Given the description of an element on the screen output the (x, y) to click on. 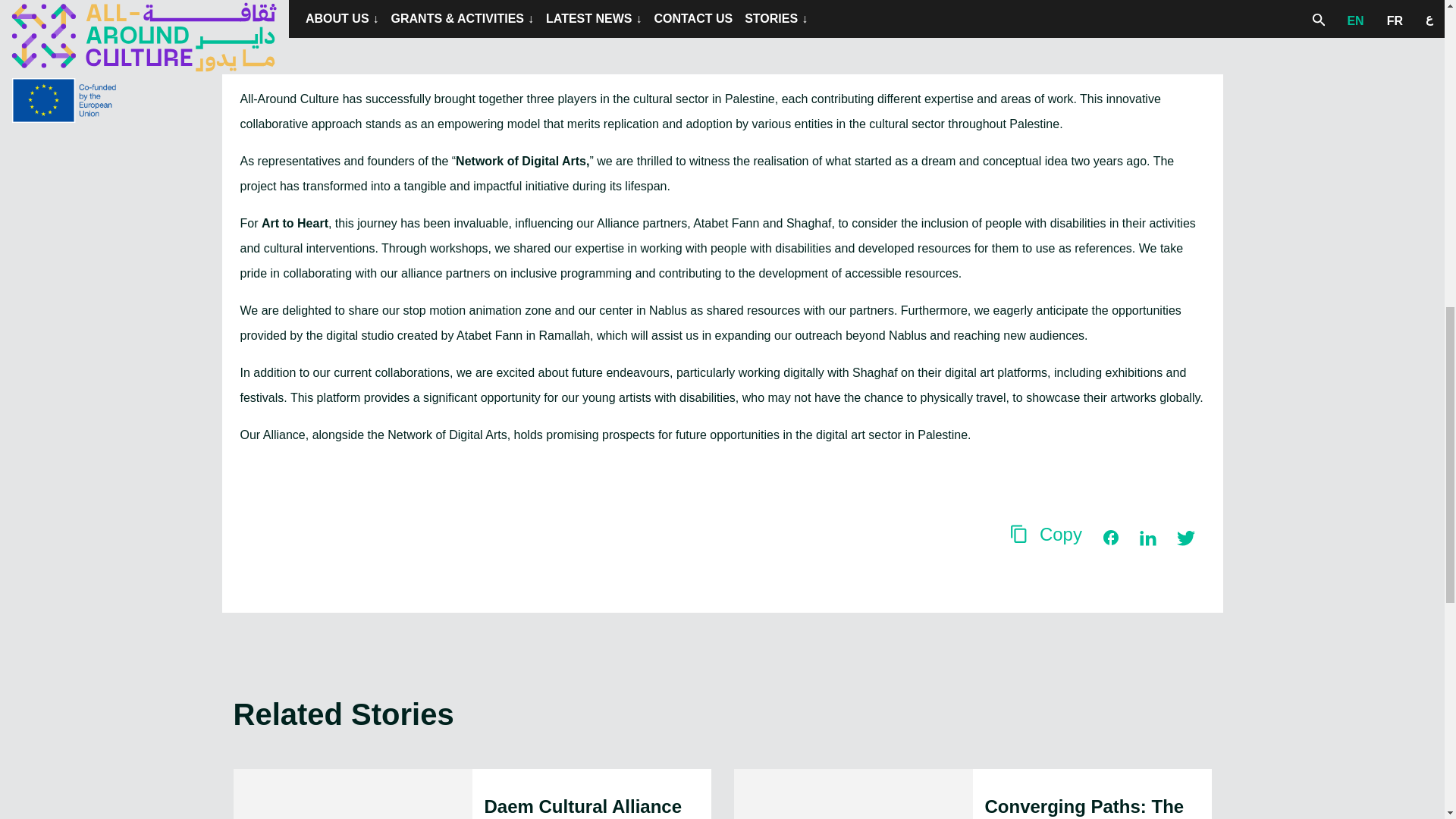
Network of Digital Arts (520, 160)
Art to Heart (295, 223)
